Given the description of an element on the screen output the (x, y) to click on. 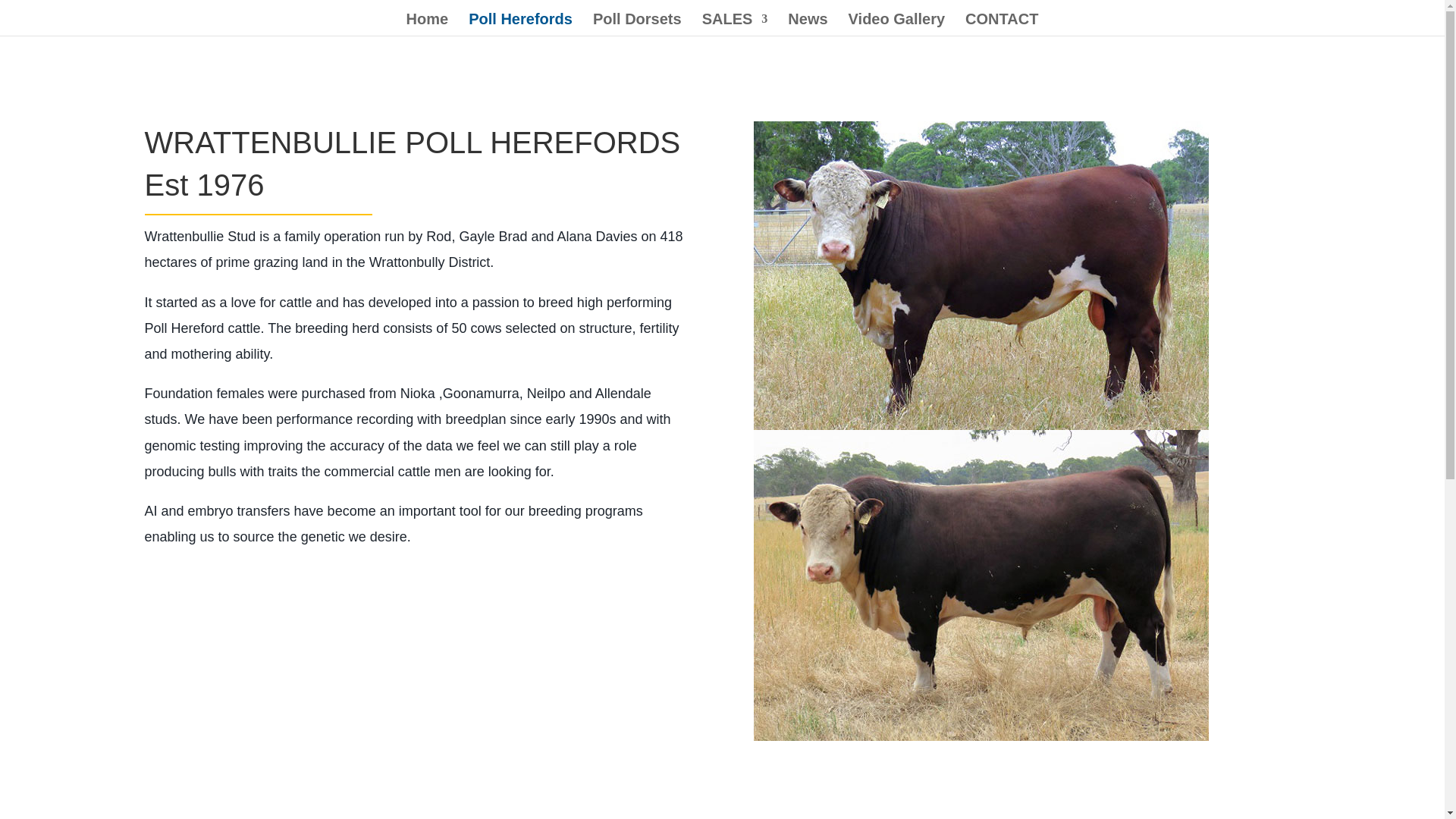
Poll Herefords (520, 24)
Poll Dorsets (636, 24)
Video Gallery (896, 24)
News (807, 24)
Home (427, 24)
SALES (734, 24)
CONTACT (1001, 24)
